Given the description of an element on the screen output the (x, y) to click on. 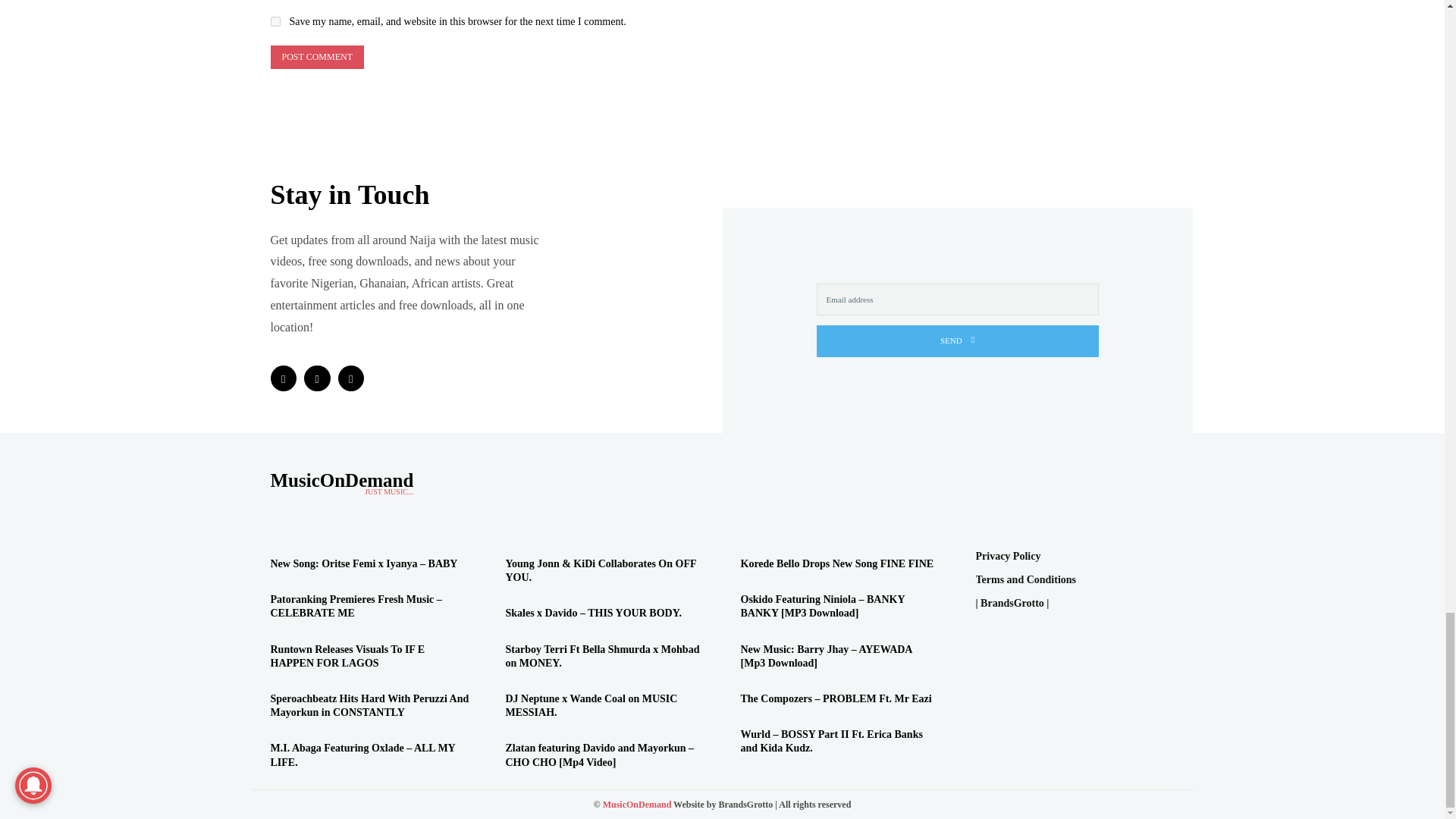
Post Comment (315, 56)
yes (274, 21)
